Given the description of an element on the screen output the (x, y) to click on. 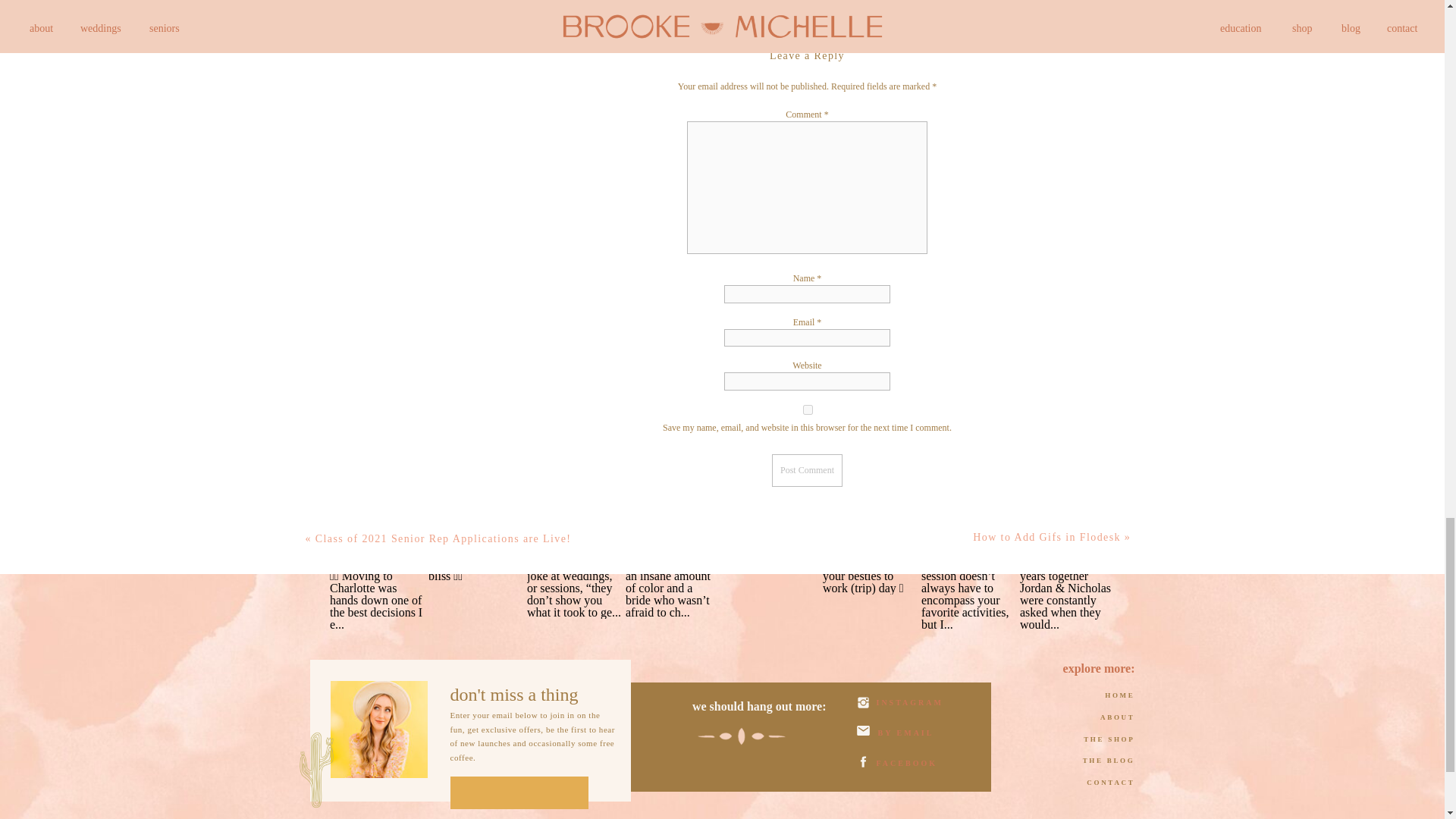
yes (807, 409)
Be the first to comment (805, 1)
Post Comment (807, 469)
Post Comment (807, 469)
